Given the description of an element on the screen output the (x, y) to click on. 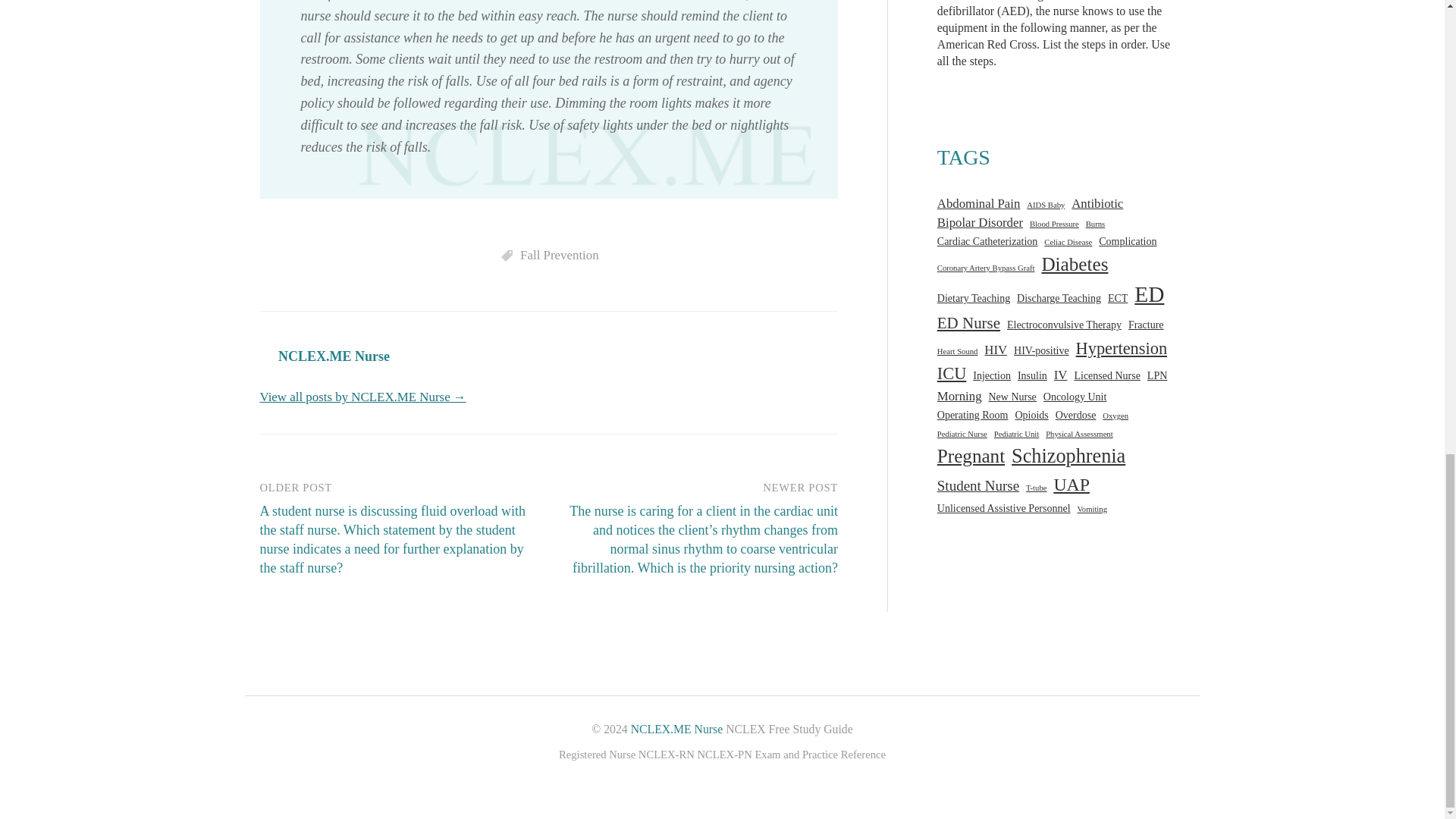
Fall Prevention (558, 255)
